Given the description of an element on the screen output the (x, y) to click on. 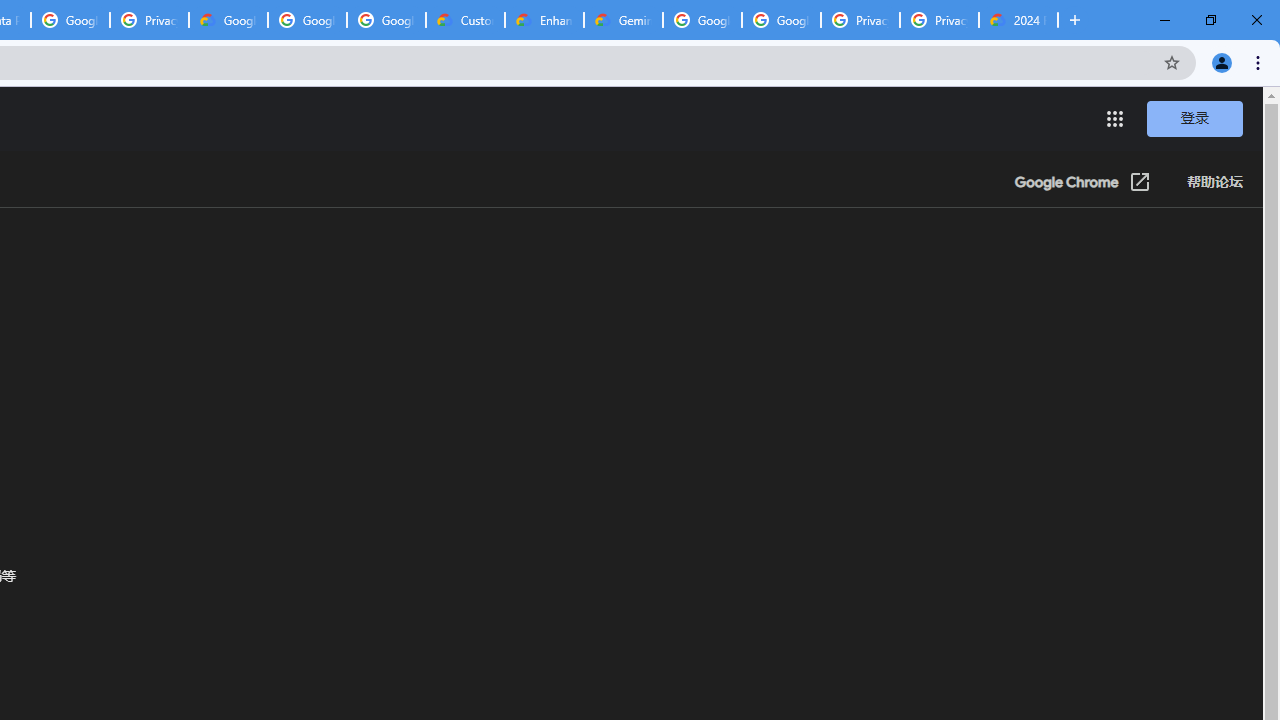
Google Workspace - Specific Terms (306, 20)
